Given the description of an element on the screen output the (x, y) to click on. 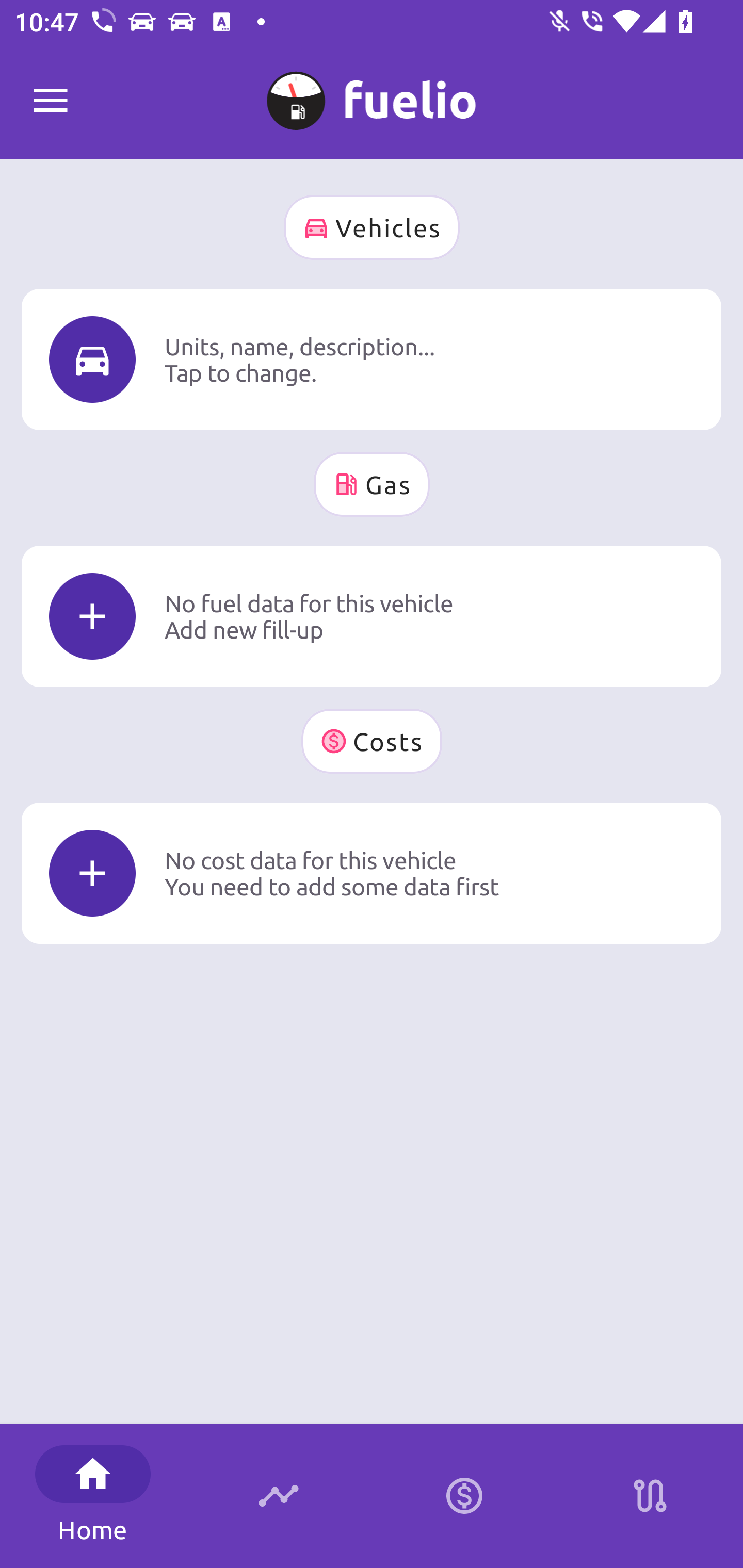
M My Car 0 km (371, 92)
Fuelio (50, 101)
Vehicles (371, 227)
Icon Units, name, description...
Tap to change. (371, 358)
Icon (92, 359)
Gas (371, 484)
Icon No fuel data for this vehicle
Add new fill-up (371, 615)
Icon (92, 616)
Costs (371, 740)
Icon (92, 873)
Timeline (278, 1495)
Calculator (464, 1495)
Stations on route (650, 1495)
